Given the description of an element on the screen output the (x, y) to click on. 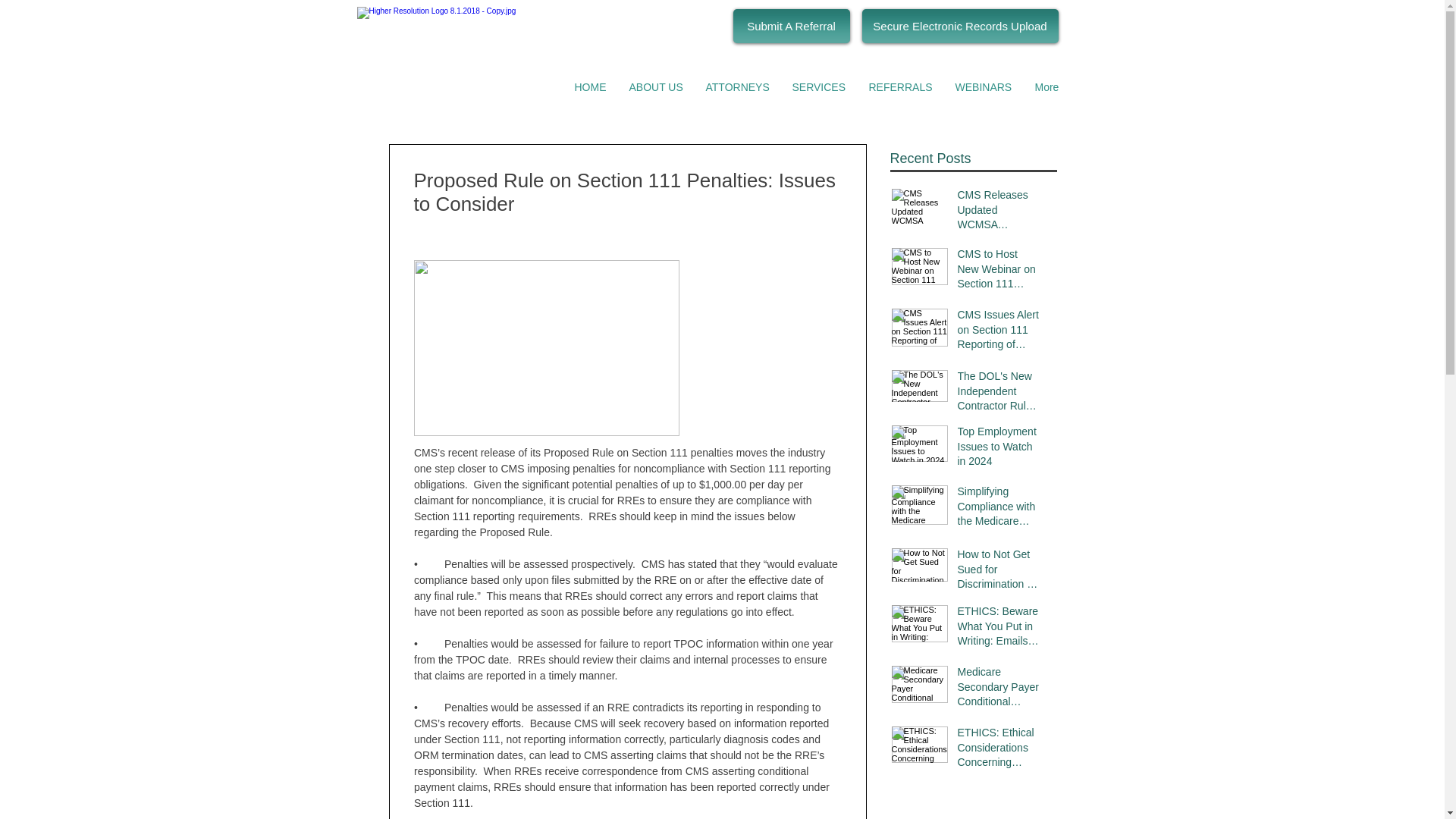
Carr Allison Medicare Compliance Group (483, 36)
SERVICES (818, 86)
ABOUT US (655, 86)
Top Employment Issues to Watch in 2024 (997, 450)
REFERRALS (900, 86)
WEBINARS (983, 86)
